Given the description of an element on the screen output the (x, y) to click on. 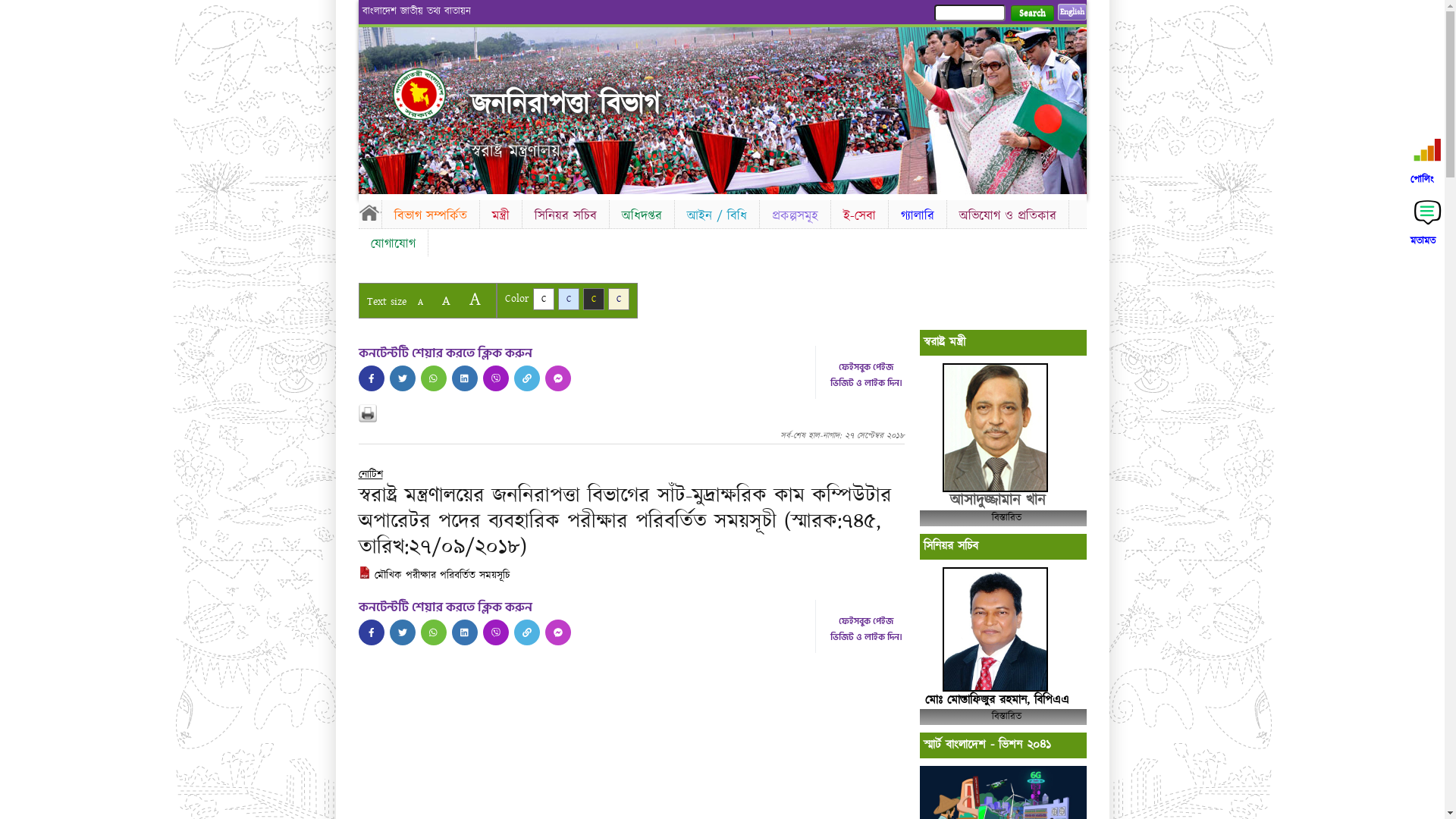
A Element type: text (419, 301)
Home Element type: hover (431, 93)
English Element type: text (1071, 11)
C Element type: text (592, 299)
C Element type: text (618, 299)
Search Element type: text (1031, 13)
A Element type: text (445, 300)
C Element type: text (568, 299)
Home Element type: hover (368, 211)
C Element type: text (542, 299)
A Element type: text (474, 298)
